Given the description of an element on the screen output the (x, y) to click on. 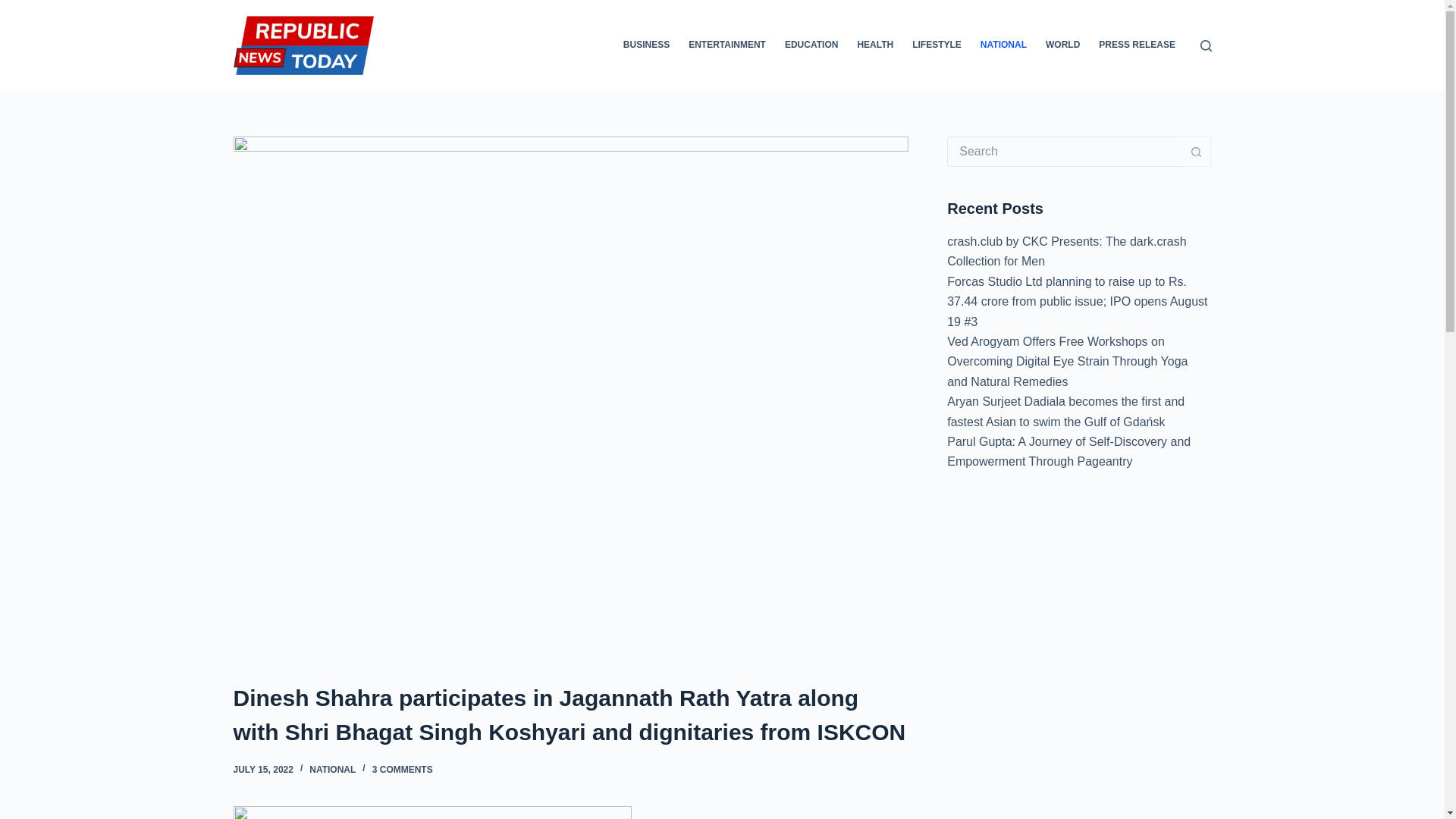
3 COMMENTS (402, 769)
NATIONAL (331, 769)
Skip to content (15, 7)
PRESS RELEASE (1137, 45)
ENTERTAINMENT (727, 45)
Search for... (1063, 151)
